Given the description of an element on the screen output the (x, y) to click on. 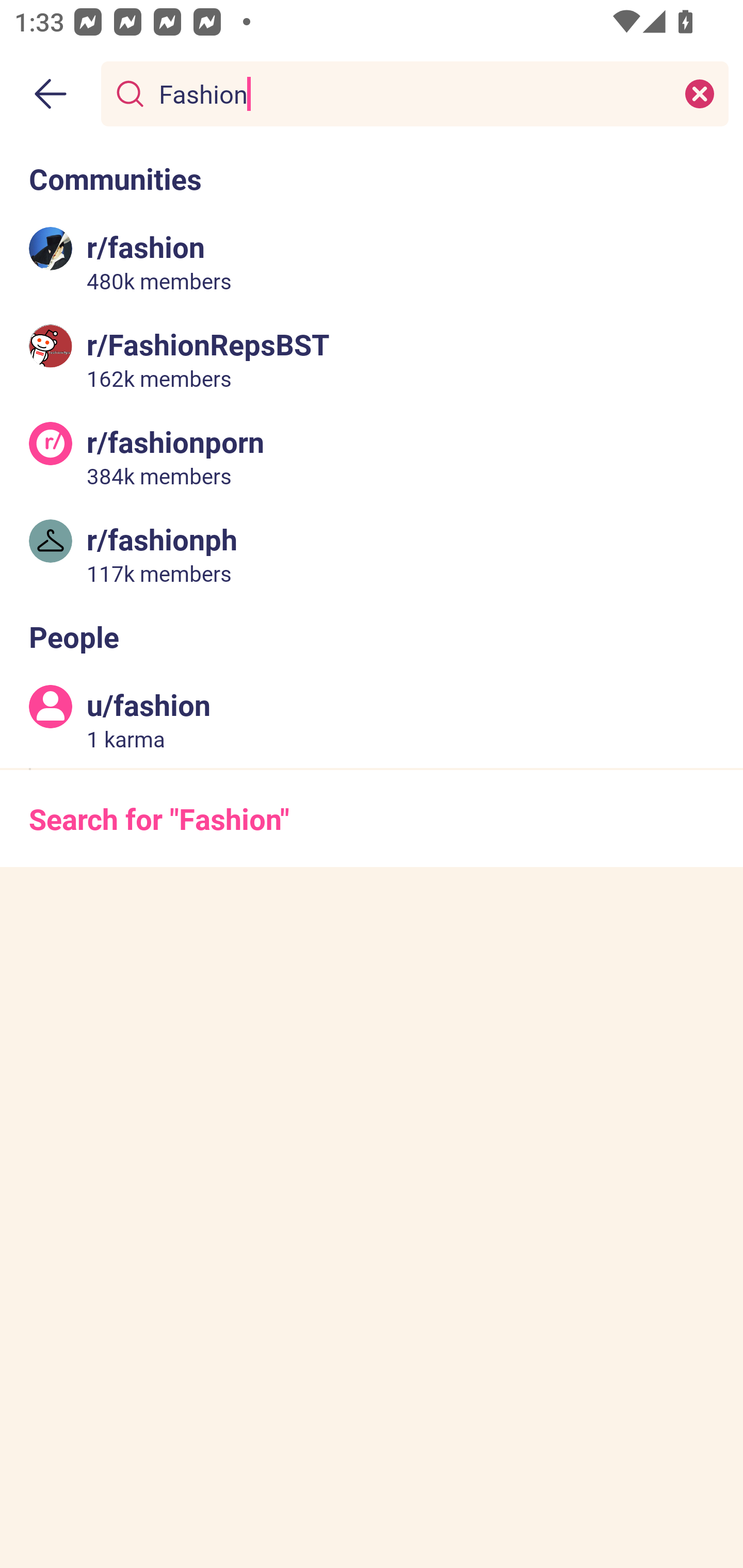
Back (50, 93)
Fashion (410, 93)
Clear search (699, 93)
r/fashion 480k members 480 thousand members (371, 261)
r/FashionRepsBST 162k members 162 thousand members (371, 358)
r/fashionporn 384k members 384 thousand members (371, 455)
r/fashionph 117k members 117 thousand members (371, 553)
u/fashion 1 karma 1 karma (371, 719)
Search for "Fashion" (371, 818)
